Given the description of an element on the screen output the (x, y) to click on. 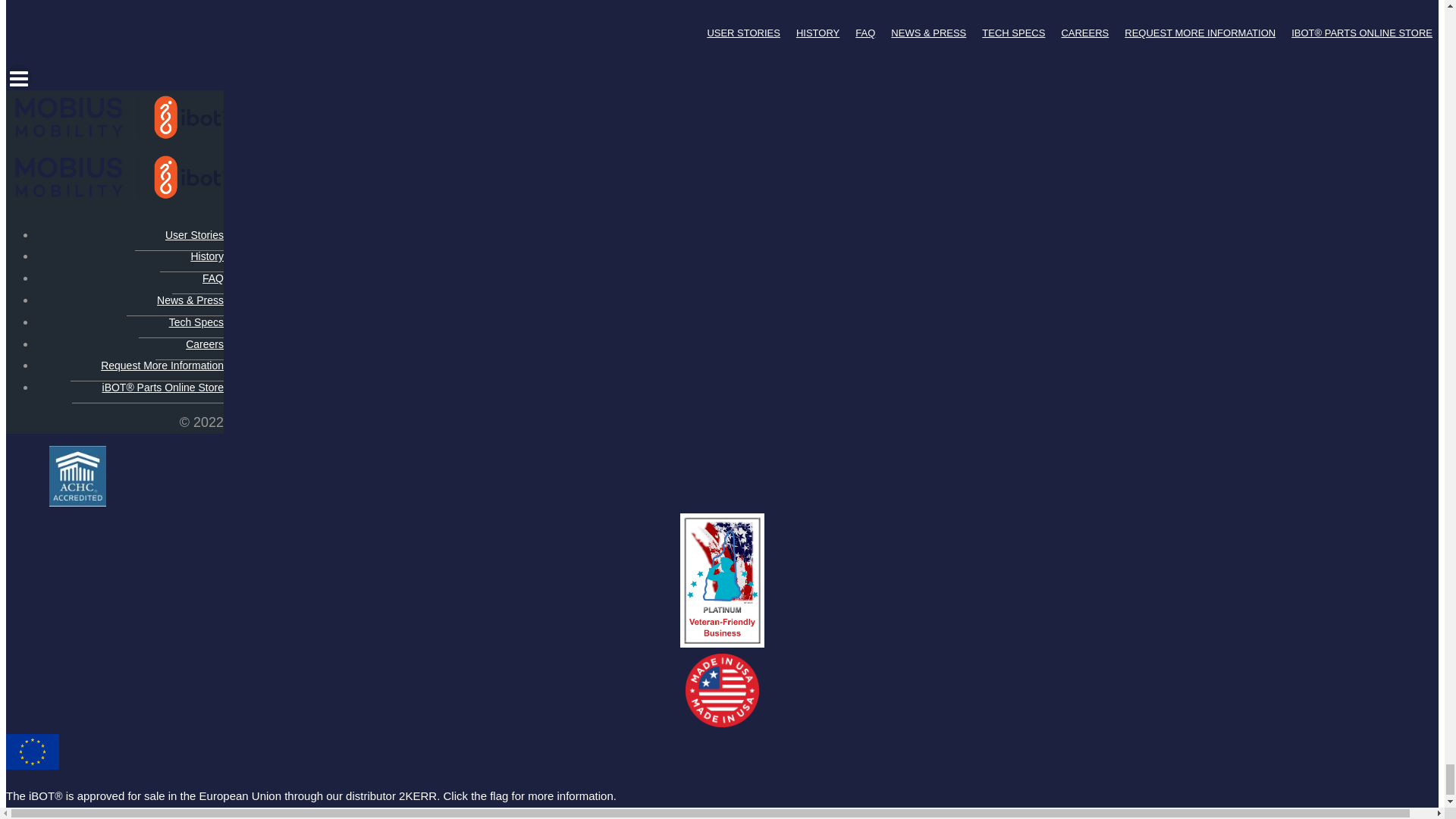
Menu (721, 77)
